Given the description of an element on the screen output the (x, y) to click on. 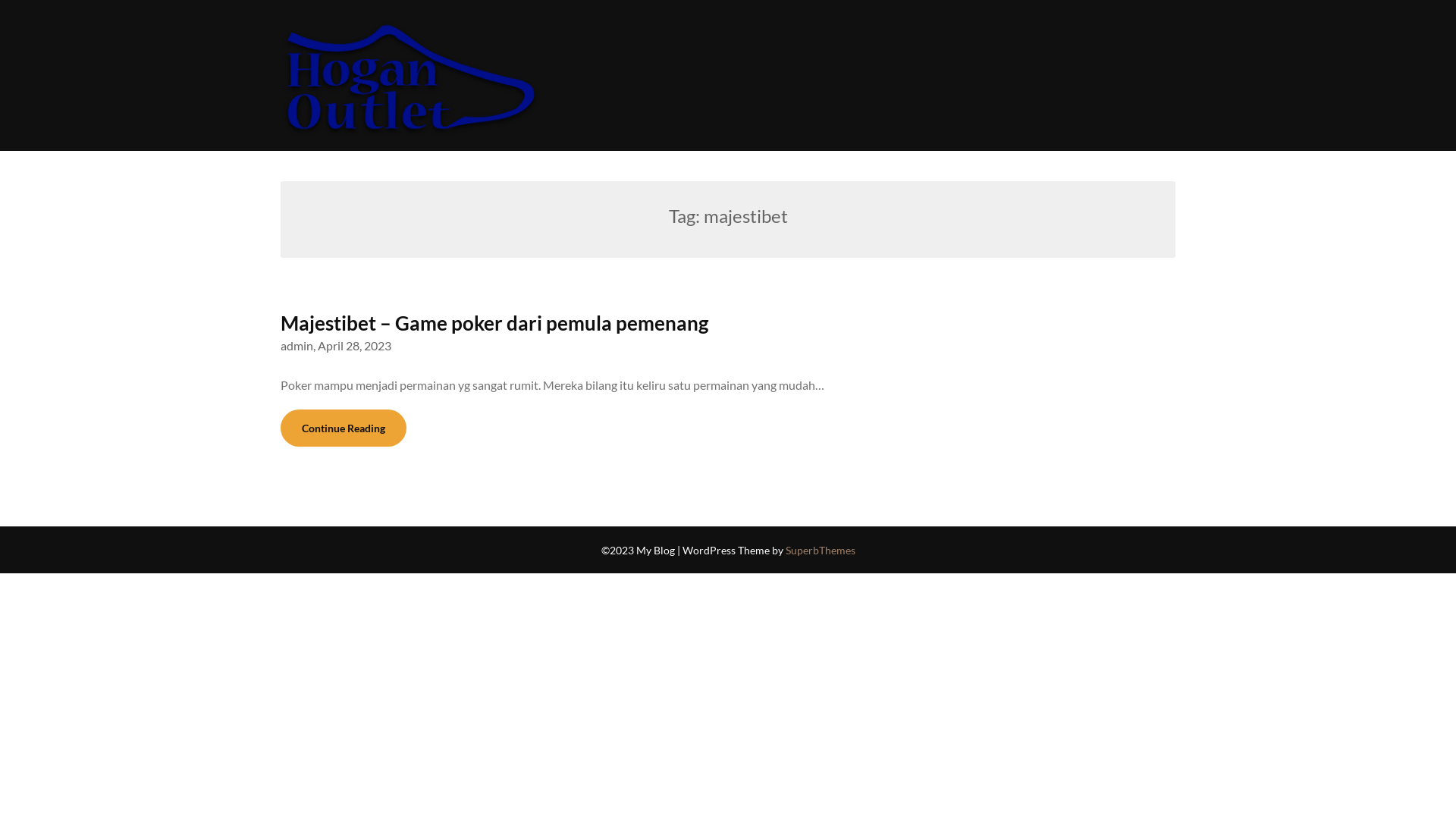
Continue Reading Element type: text (343, 427)
April 28, 2023 Element type: text (354, 345)
SuperbThemes Element type: text (820, 549)
